Given the description of an element on the screen output the (x, y) to click on. 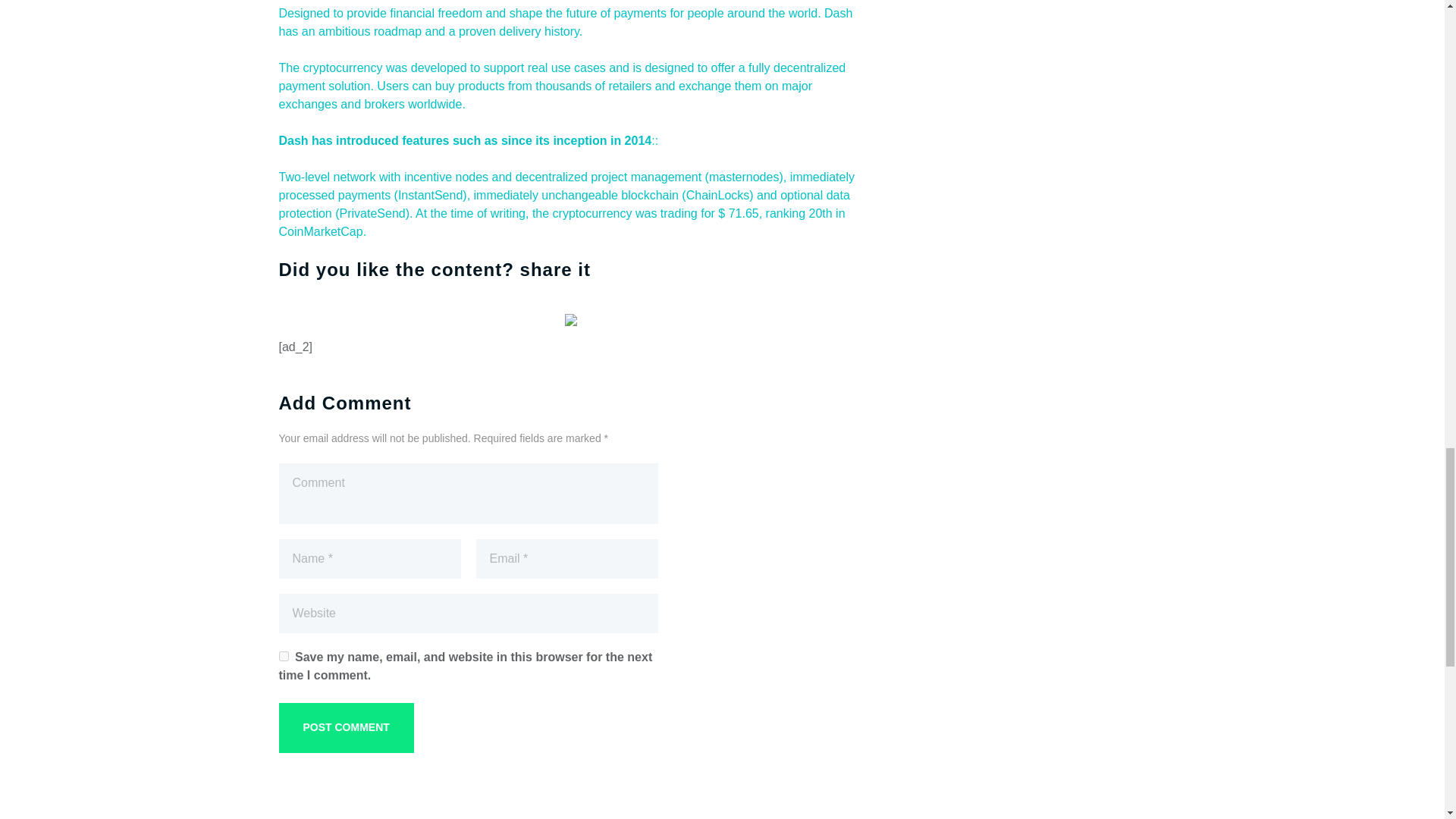
Post Comment (346, 727)
Post Comment (346, 727)
yes (283, 655)
